Given the description of an element on the screen output the (x, y) to click on. 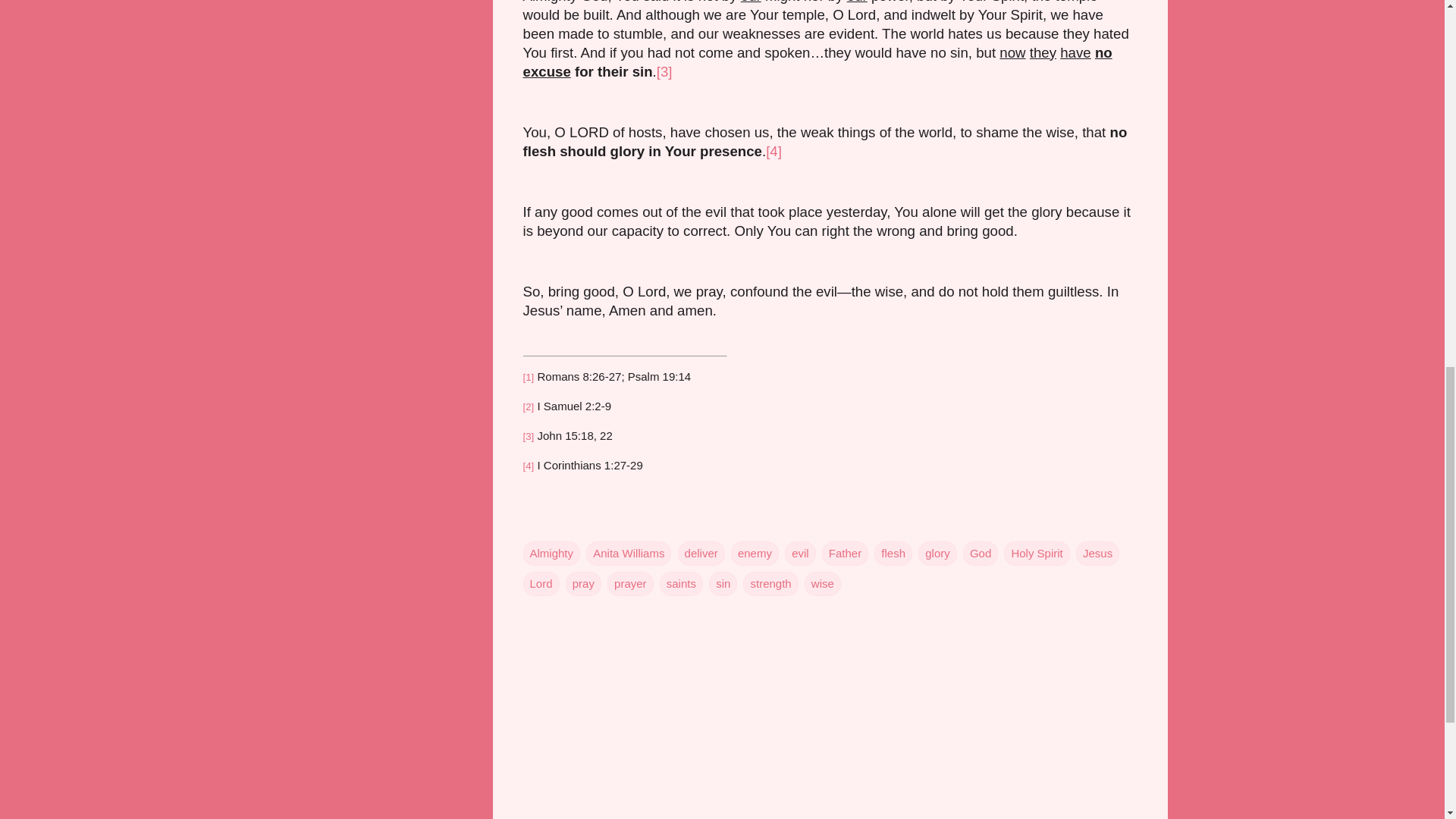
strength (769, 583)
saints (681, 583)
Holy Spirit (1036, 553)
enemy (754, 553)
God (979, 553)
Almighty (551, 553)
evil (799, 553)
wise (823, 583)
flesh (893, 553)
prayer (630, 583)
